Given the description of an element on the screen output the (x, y) to click on. 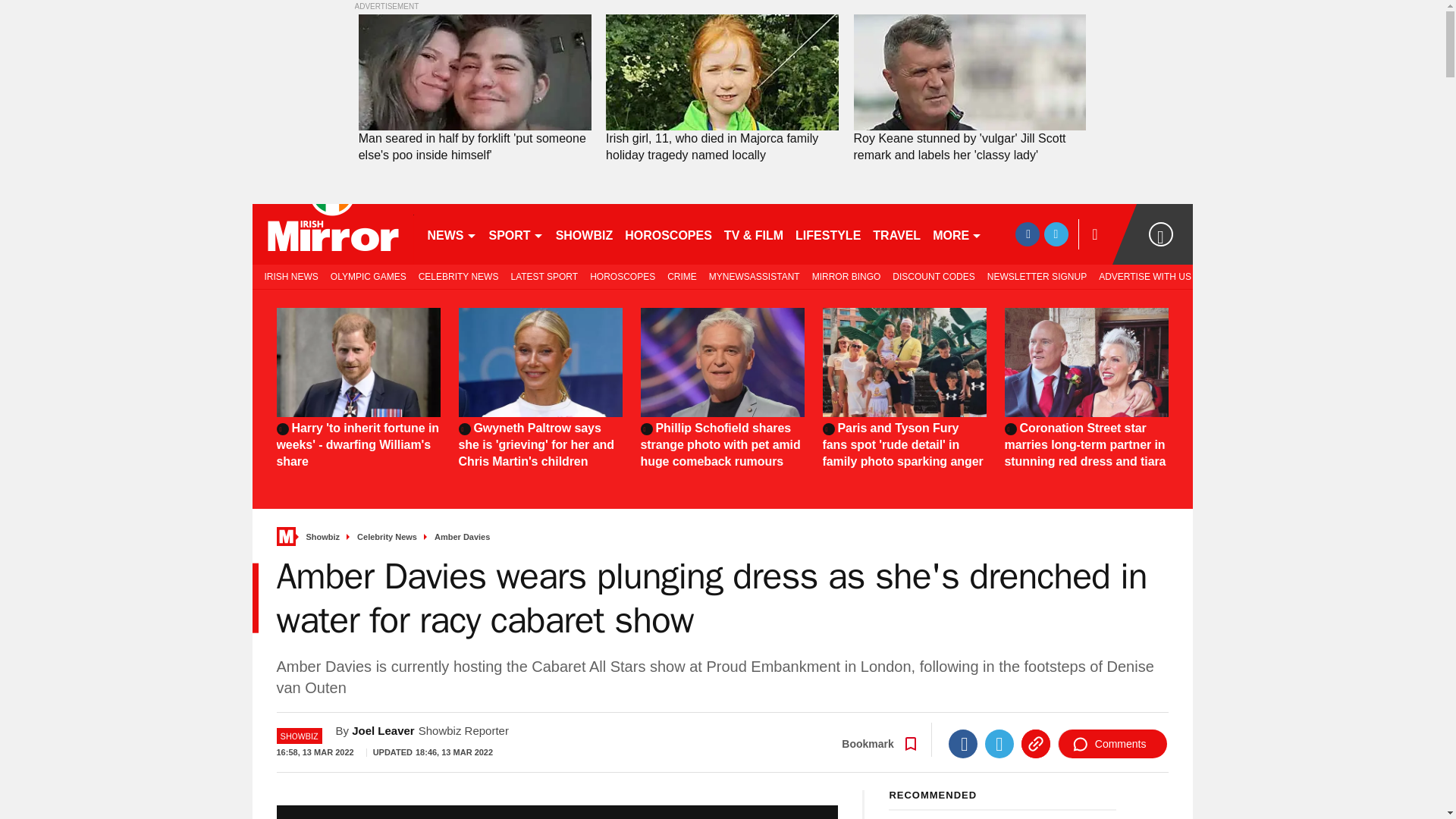
NEWS (452, 233)
SHOWBIZ (585, 233)
IRISH NEWS (287, 275)
Comments (1112, 743)
facebook (1026, 233)
irishmirror (332, 233)
TRAVEL (896, 233)
twitter (1055, 233)
HOROSCOPES (667, 233)
